Given the description of an element on the screen output the (x, y) to click on. 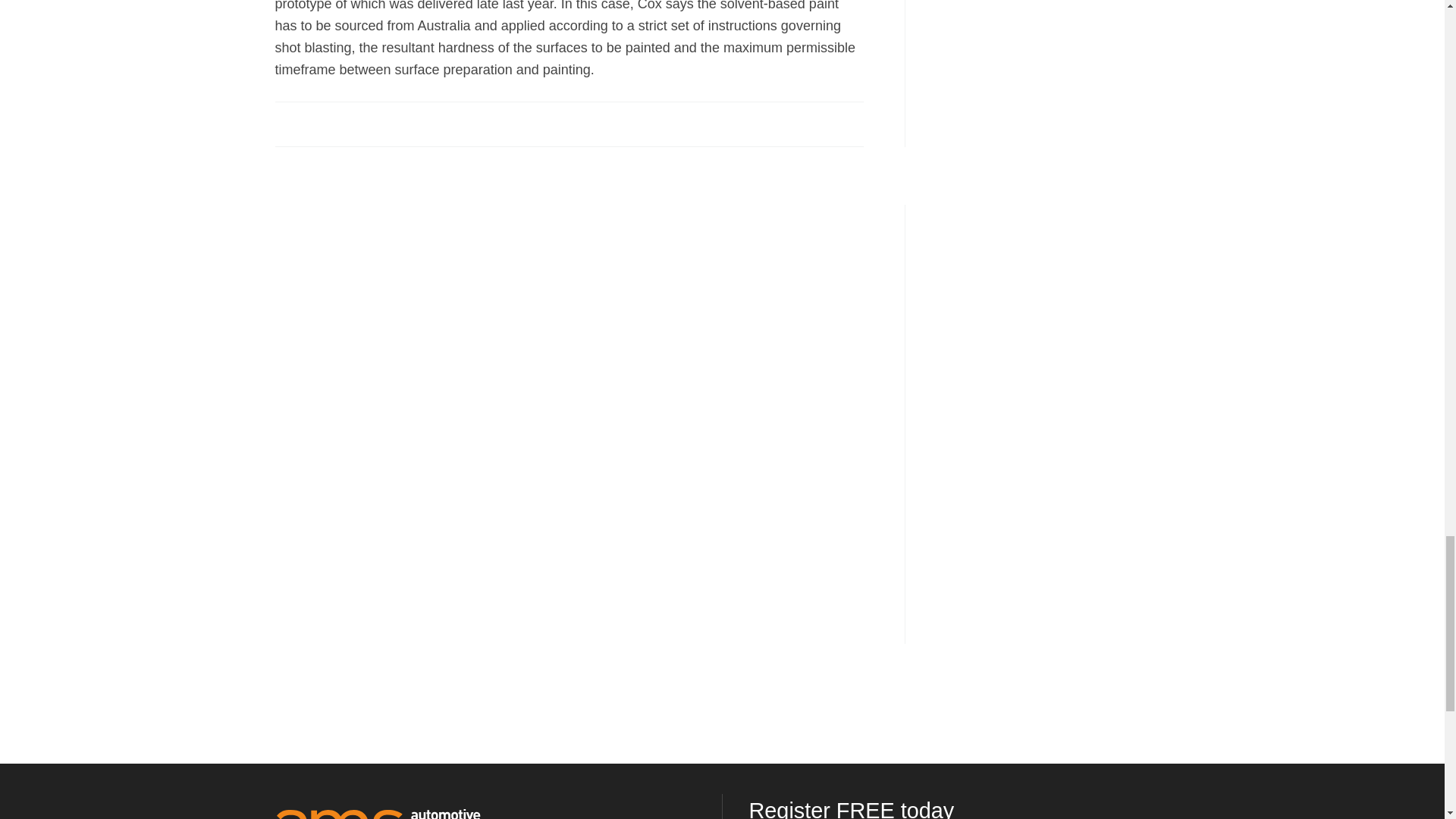
Share this on Facebook (288, 123)
Share this on Twitter (320, 123)
Email this article (386, 123)
Share this on Linked in (352, 123)
